Given the description of an element on the screen output the (x, y) to click on. 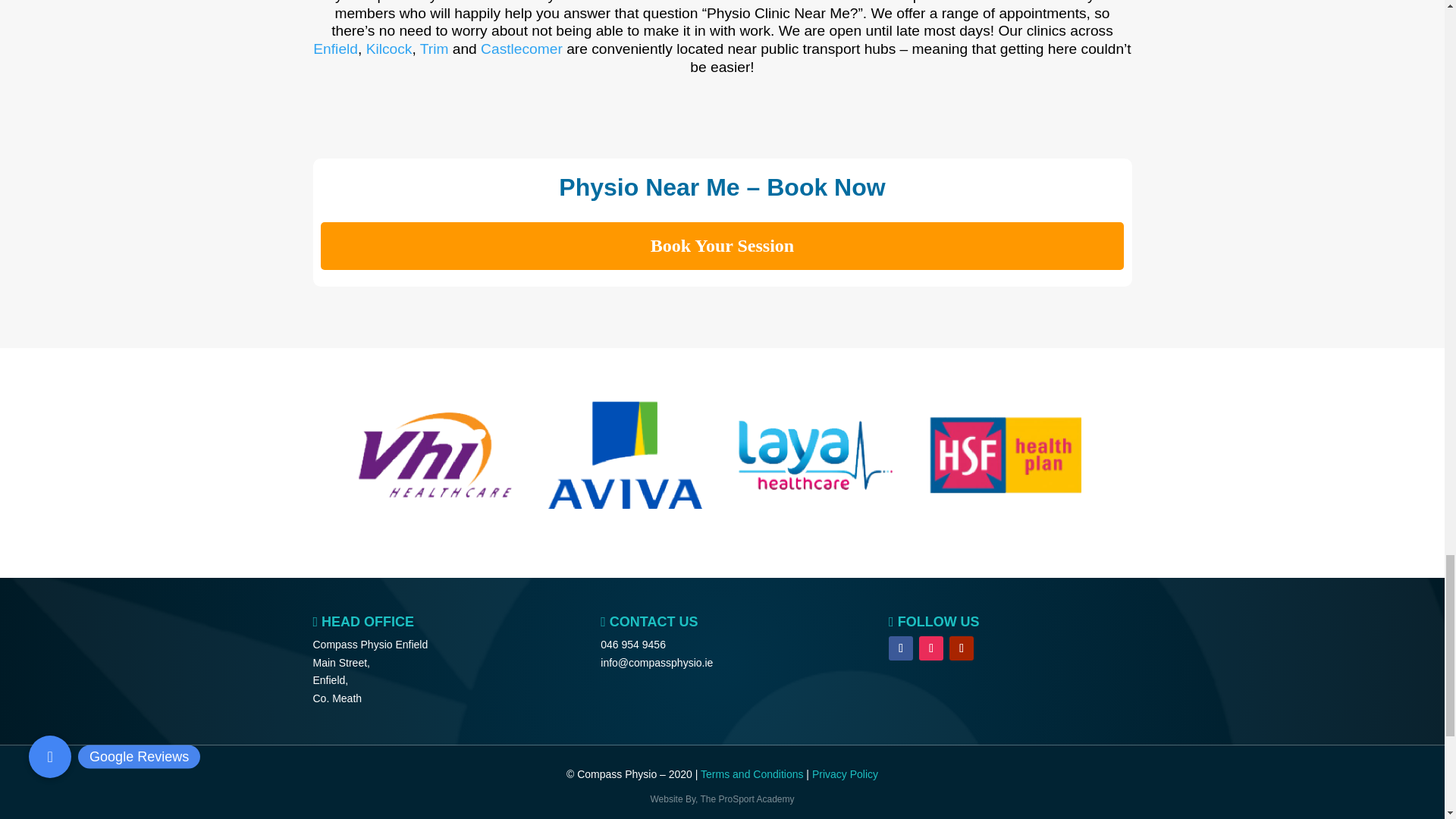
Follow on Instagram (930, 648)
Follow on Facebook (900, 648)
Follow on Youtube (961, 648)
